Given the description of an element on the screen output the (x, y) to click on. 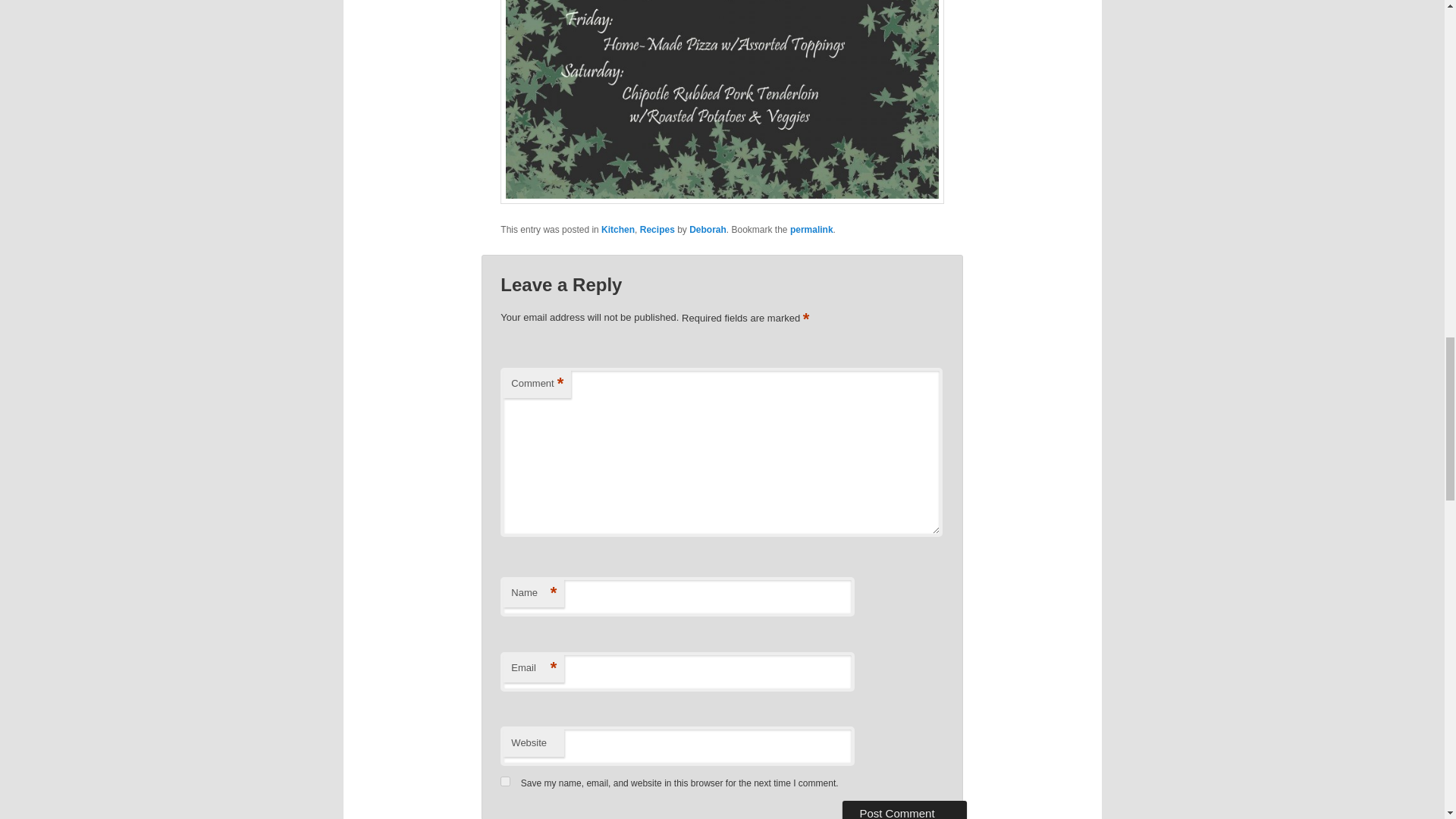
yes (505, 781)
Post Comment (904, 809)
Permalink to Next Weeks Menu (811, 229)
